Given the description of an element on the screen output the (x, y) to click on. 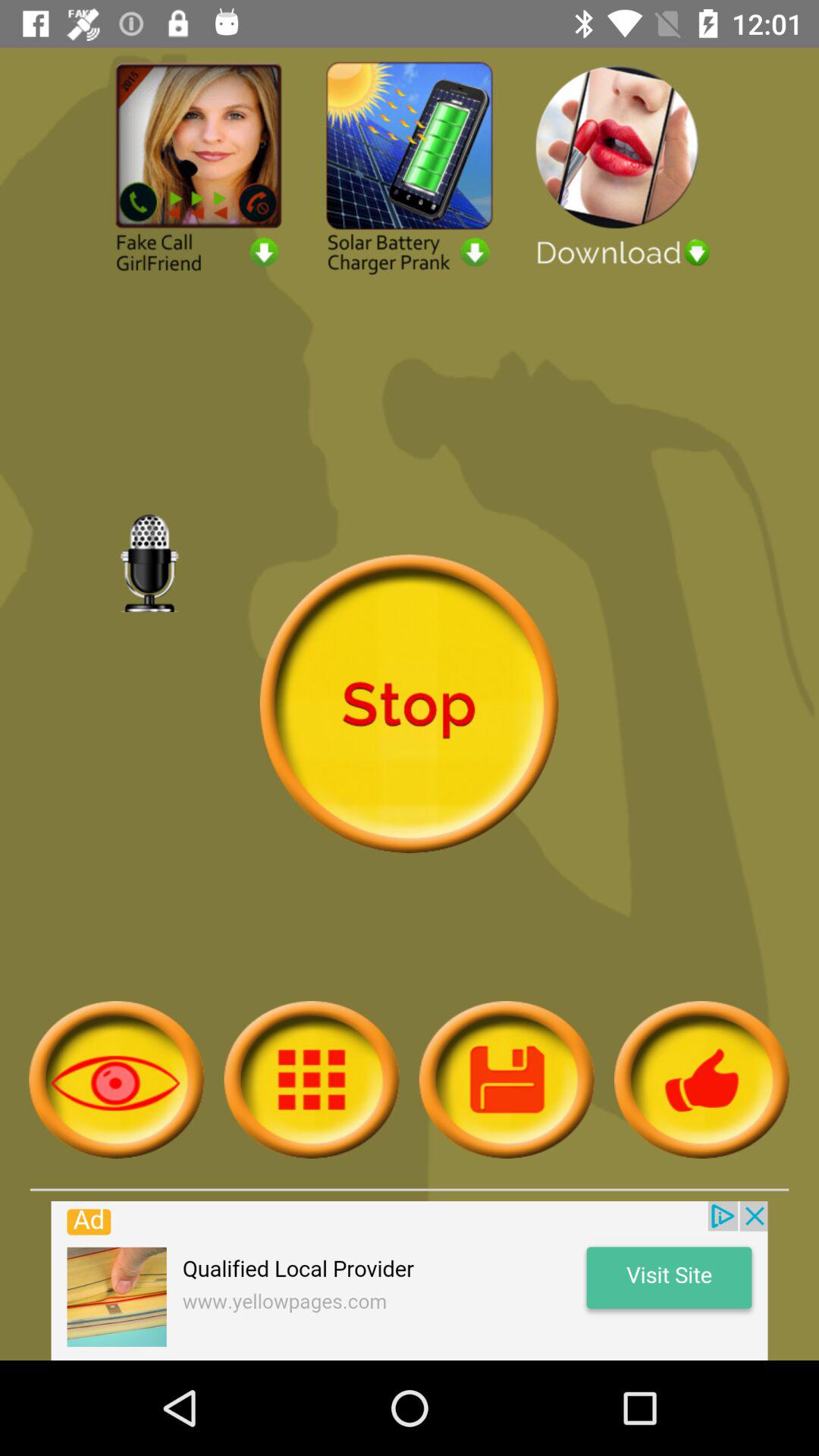
install fake call girlfriend app (199, 166)
